Given the description of an element on the screen output the (x, y) to click on. 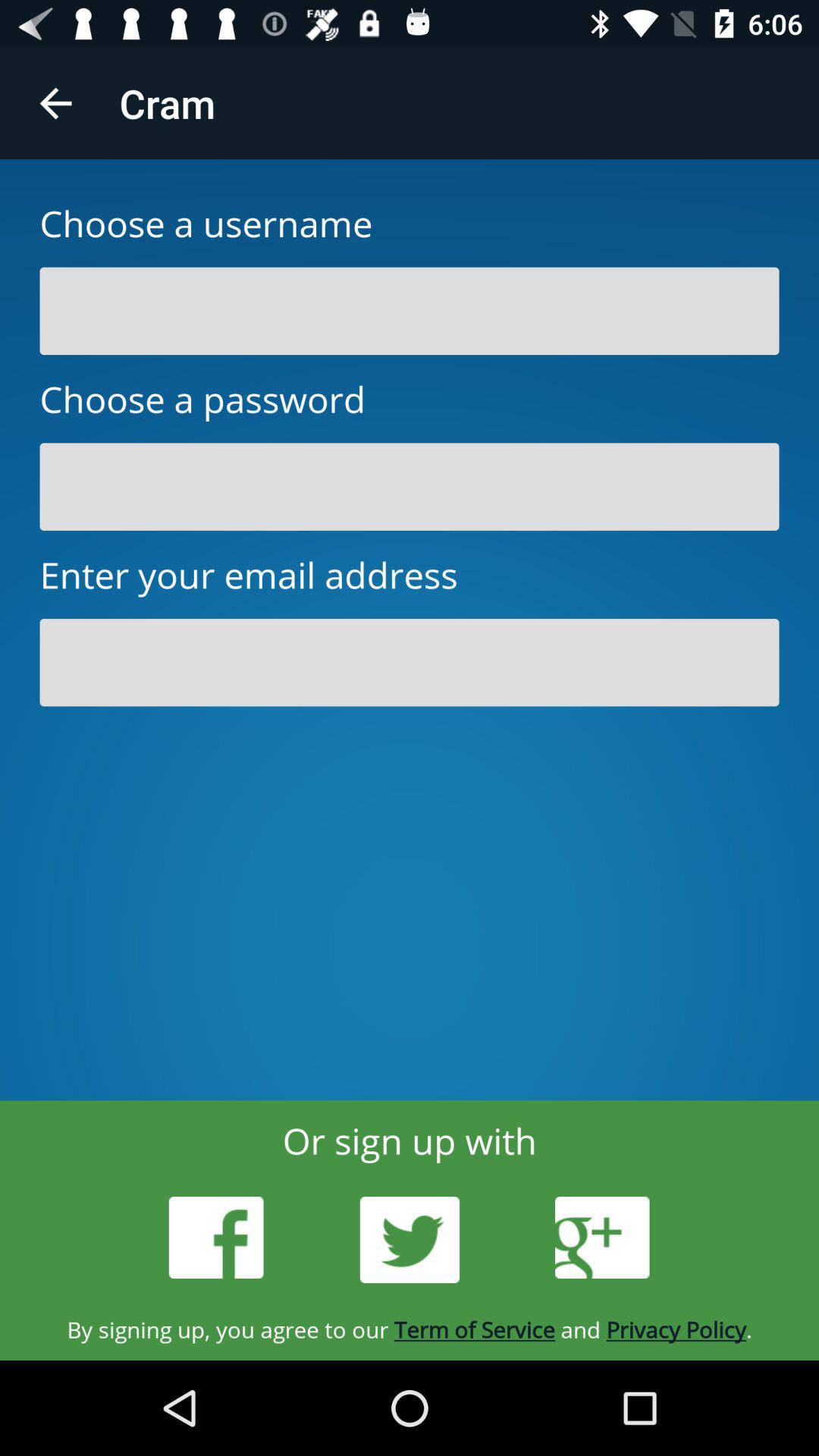
click item above choose a username icon (55, 103)
